Given the description of an element on the screen output the (x, y) to click on. 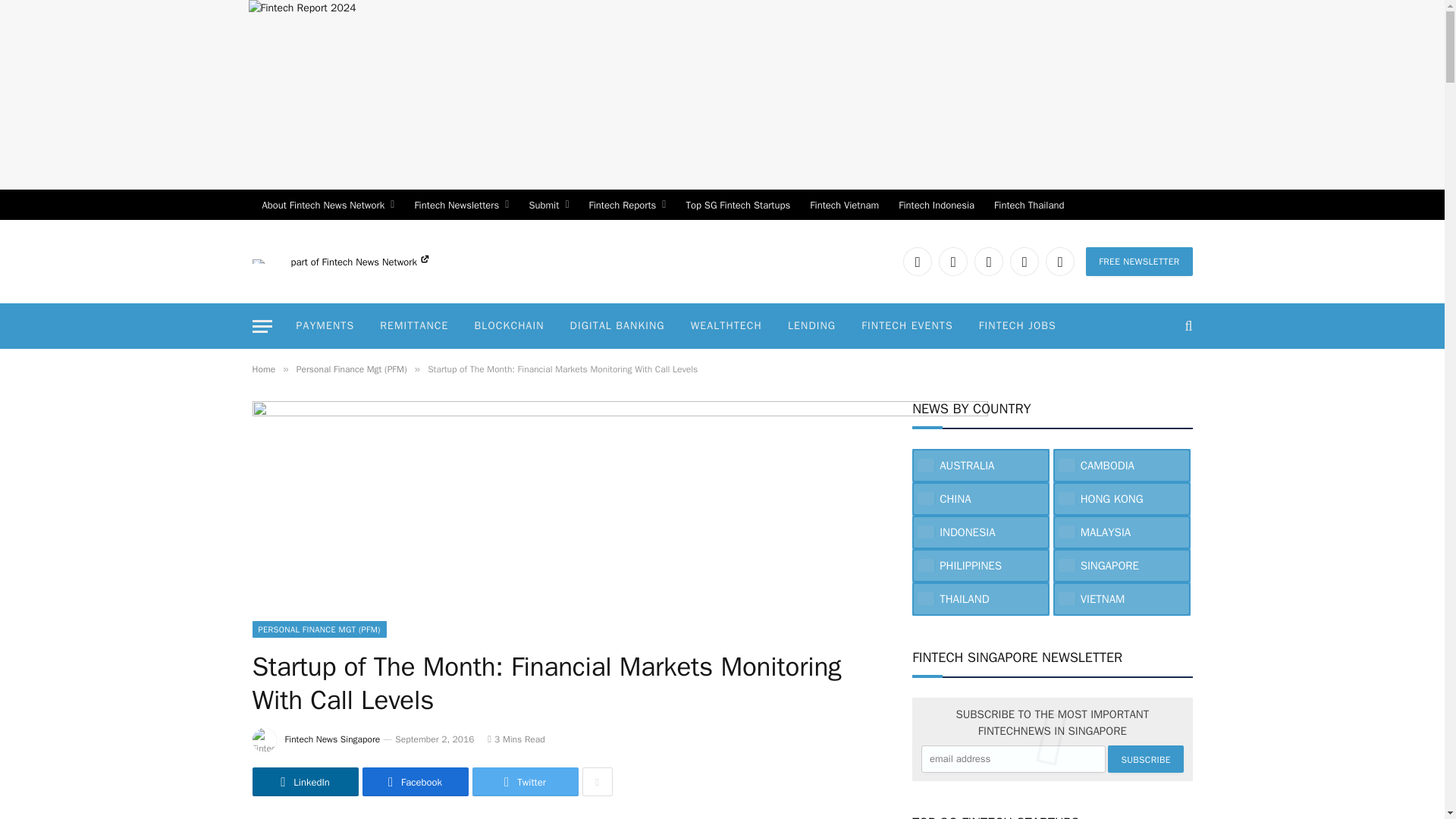
Submit (548, 204)
Share on Facebook (415, 781)
Share on LinkedIn (304, 781)
About Fintech News Network (327, 204)
Show More Social Sharing (597, 781)
Posts by Fintech News Singapore (332, 739)
Fintech Newsletters (461, 204)
Subscribe (1145, 759)
